Given the description of an element on the screen output the (x, y) to click on. 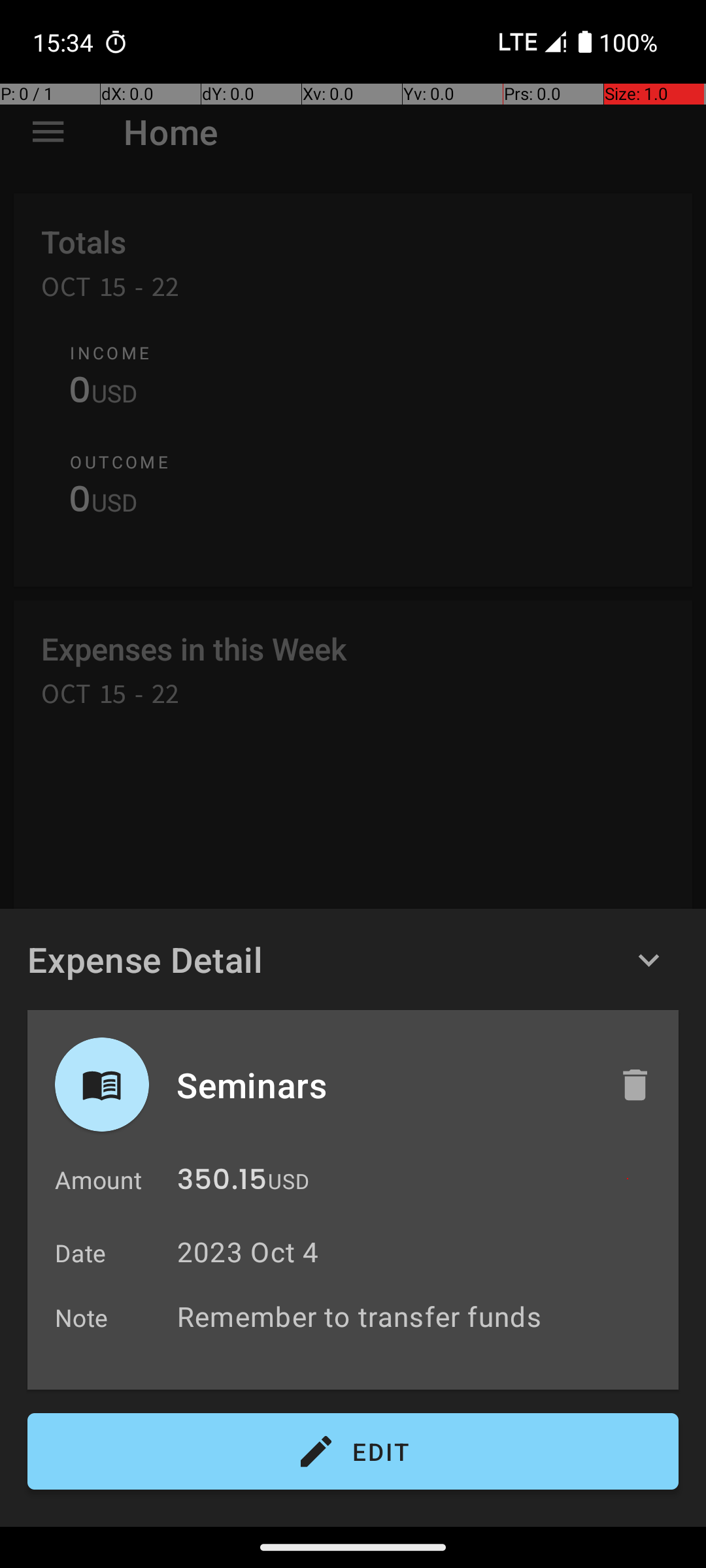
Seminars Element type: android.widget.TextView (383, 1084)
350.15 Element type: android.widget.TextView (221, 1182)
2023 Oct 4 Element type: android.widget.TextView (247, 1251)
